Given the description of an element on the screen output the (x, y) to click on. 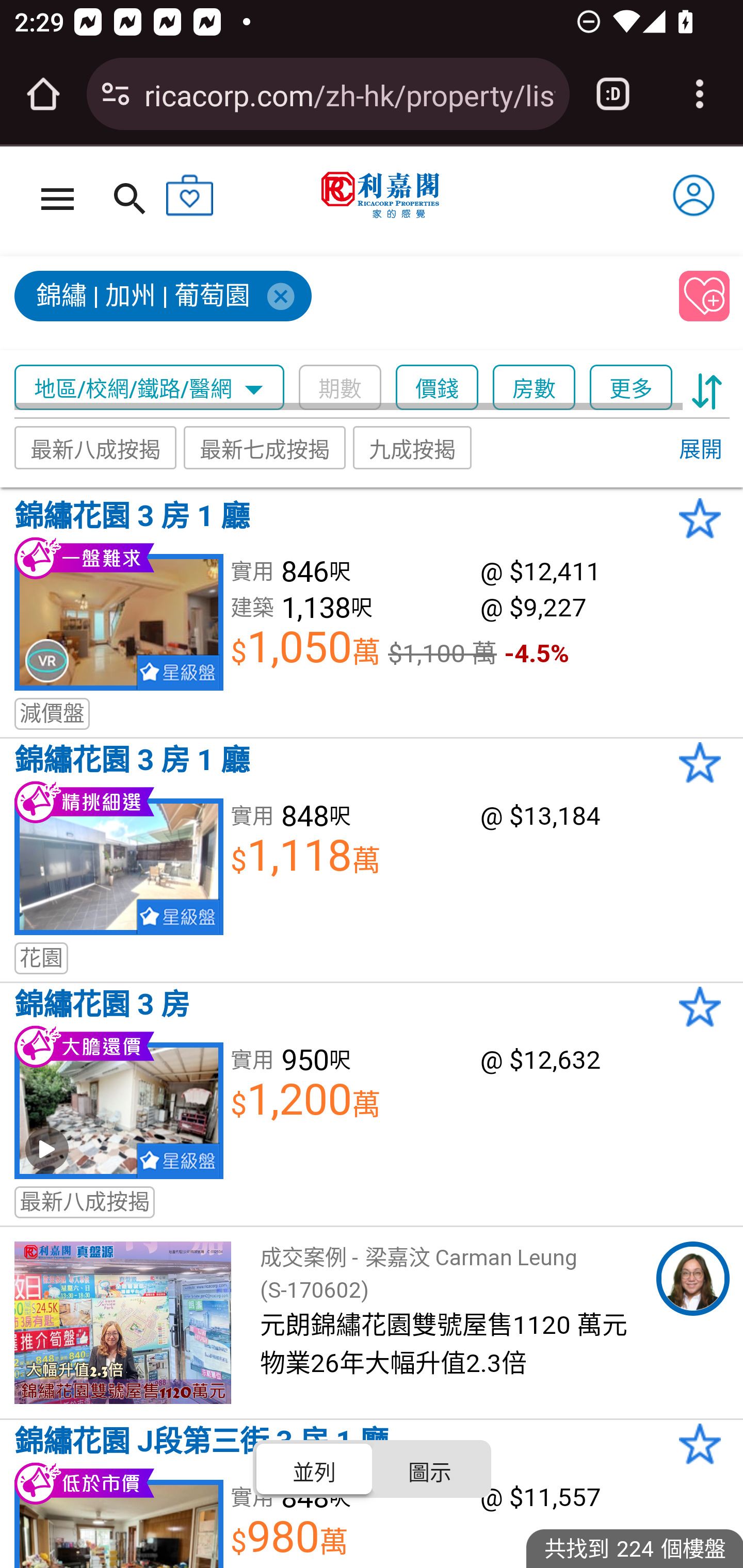
Open the home page (43, 93)
Connection is secure (115, 93)
Switch or close tabs (612, 93)
Customize and control Google Chrome (699, 93)
地區/校網/鐵路 (123, 387)
sort (706, 387)
並列 (314, 1468)
圖示 (429, 1468)
